Given the description of an element on the screen output the (x, y) to click on. 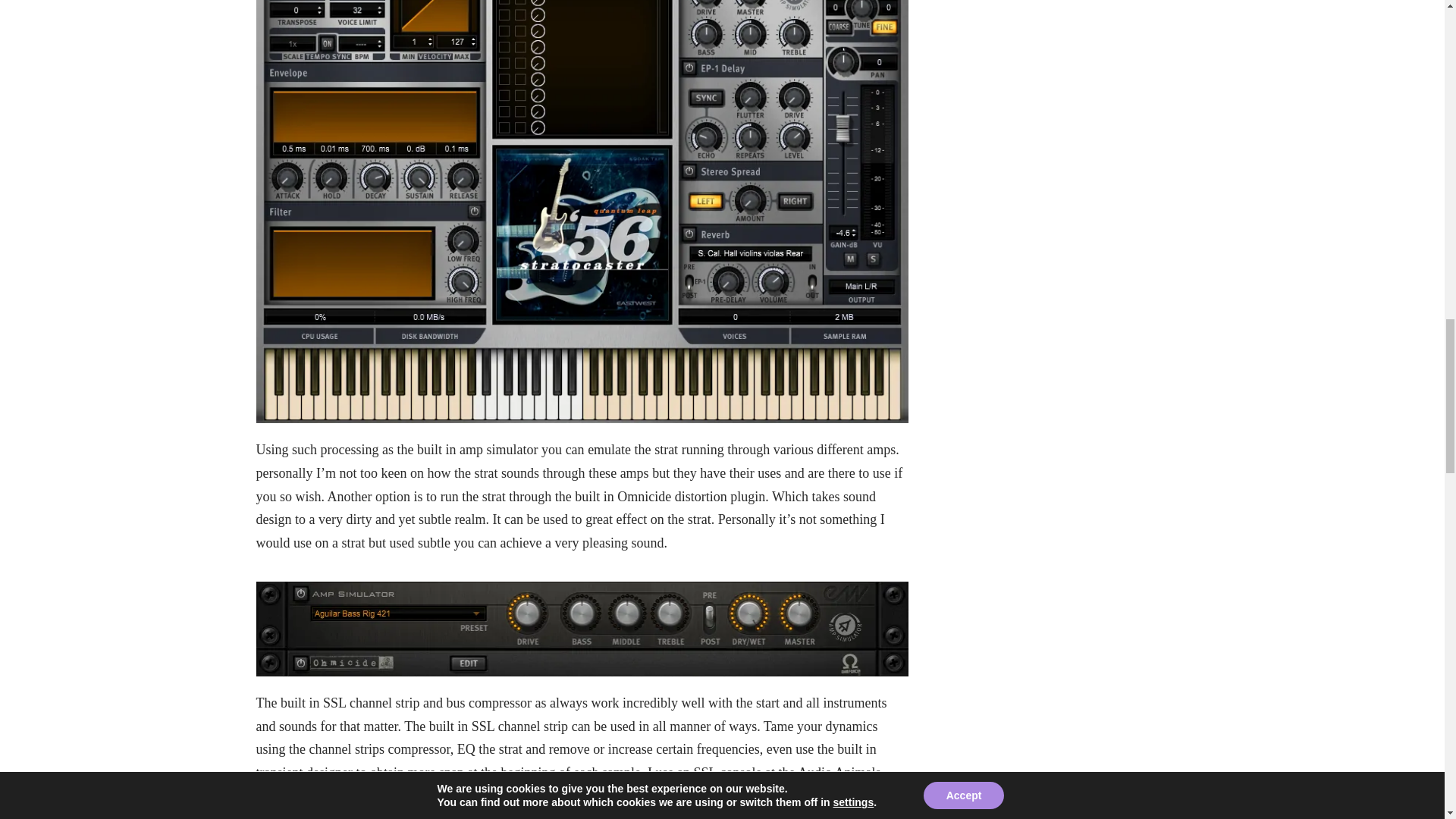
East-West-Amp-Simulator (582, 628)
